Given the description of an element on the screen output the (x, y) to click on. 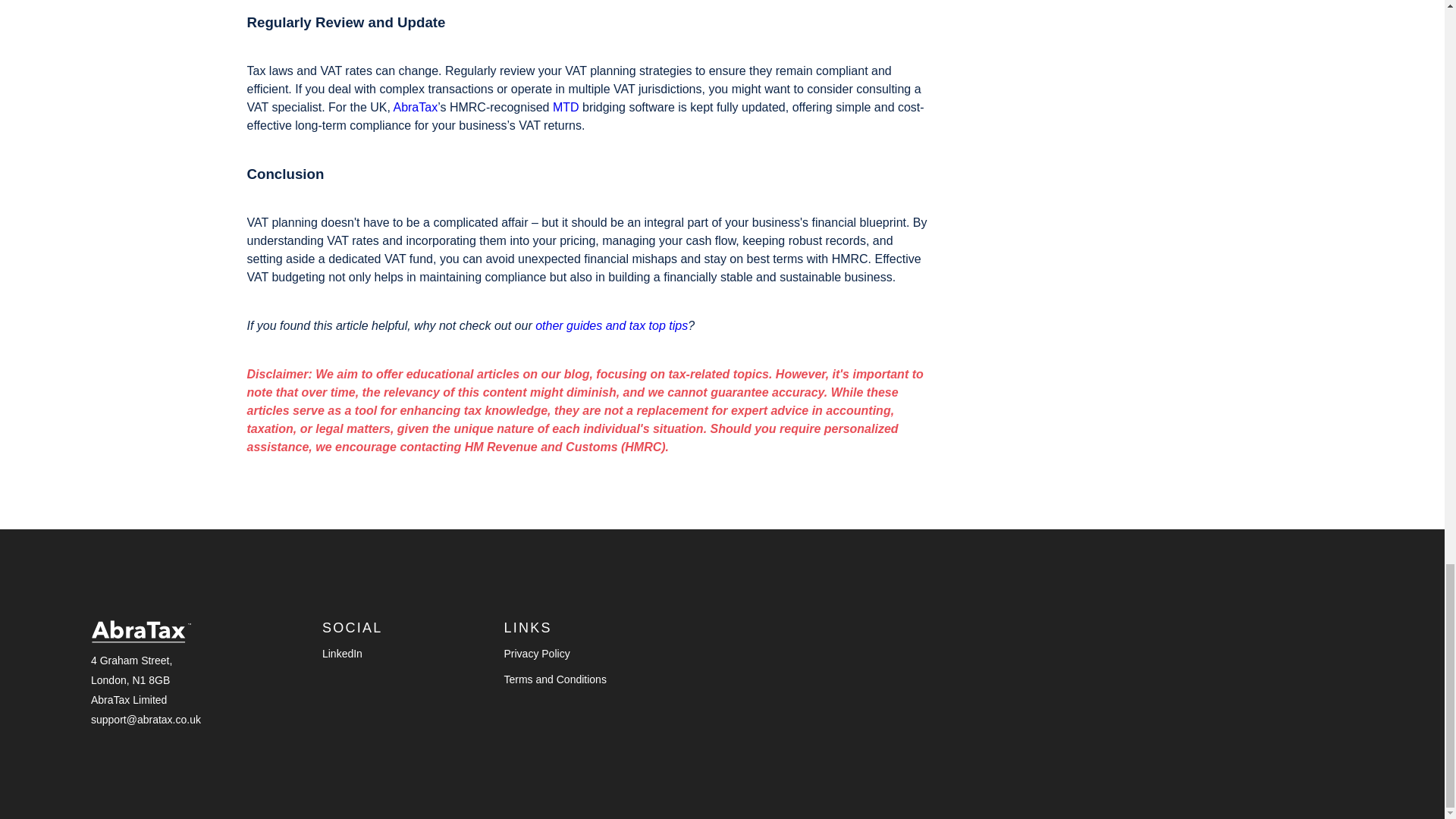
MTD (566, 106)
Terms and Conditions (554, 678)
AbraTax (415, 106)
Privacy Policy (536, 653)
LinkedIn (341, 653)
other guides and tax top tips (611, 325)
